Given the description of an element on the screen output the (x, y) to click on. 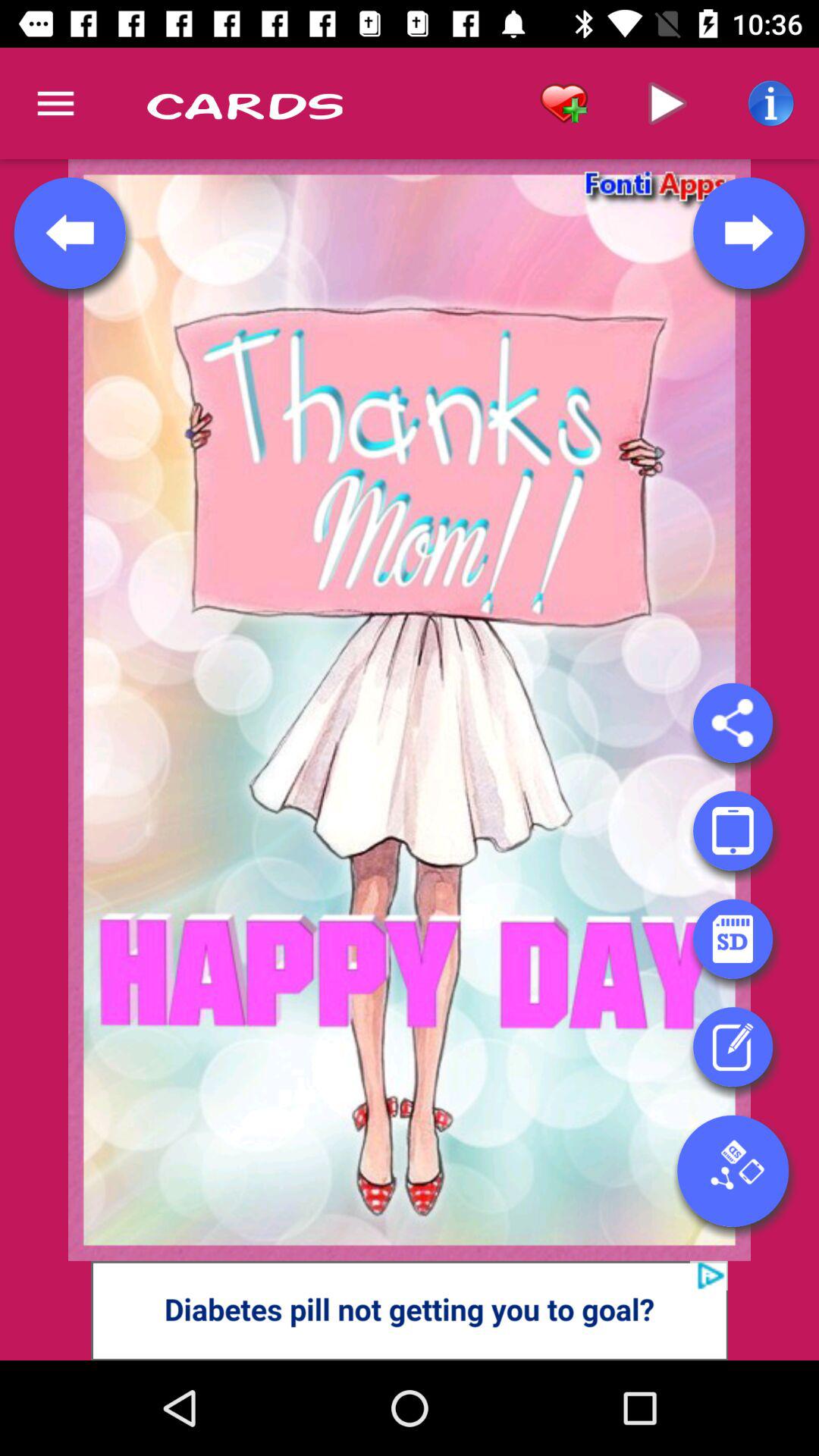
click to play advertisement (409, 1310)
